Given the description of an element on the screen output the (x, y) to click on. 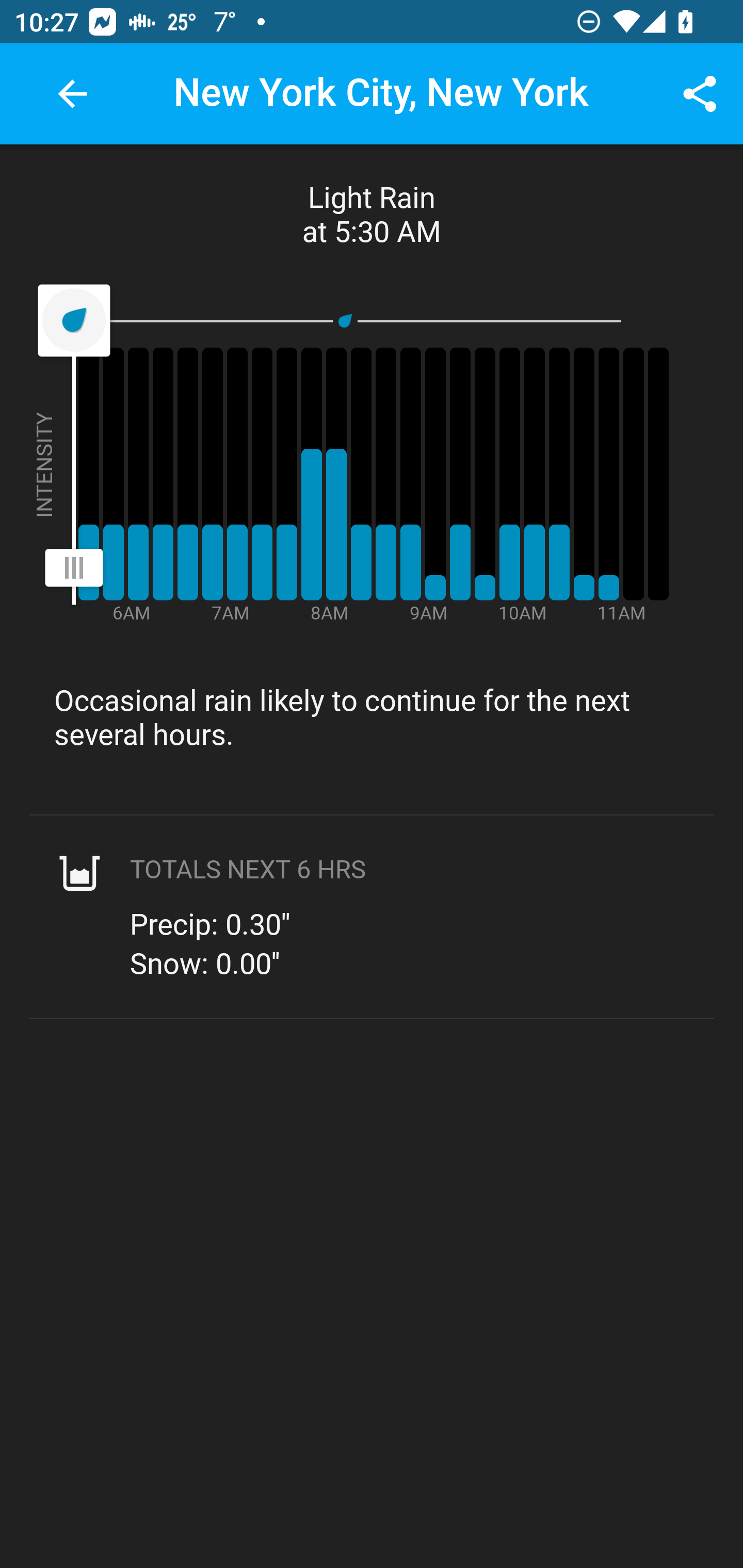
back (71, 93)
Share (699, 93)
